Given the description of an element on the screen output the (x, y) to click on. 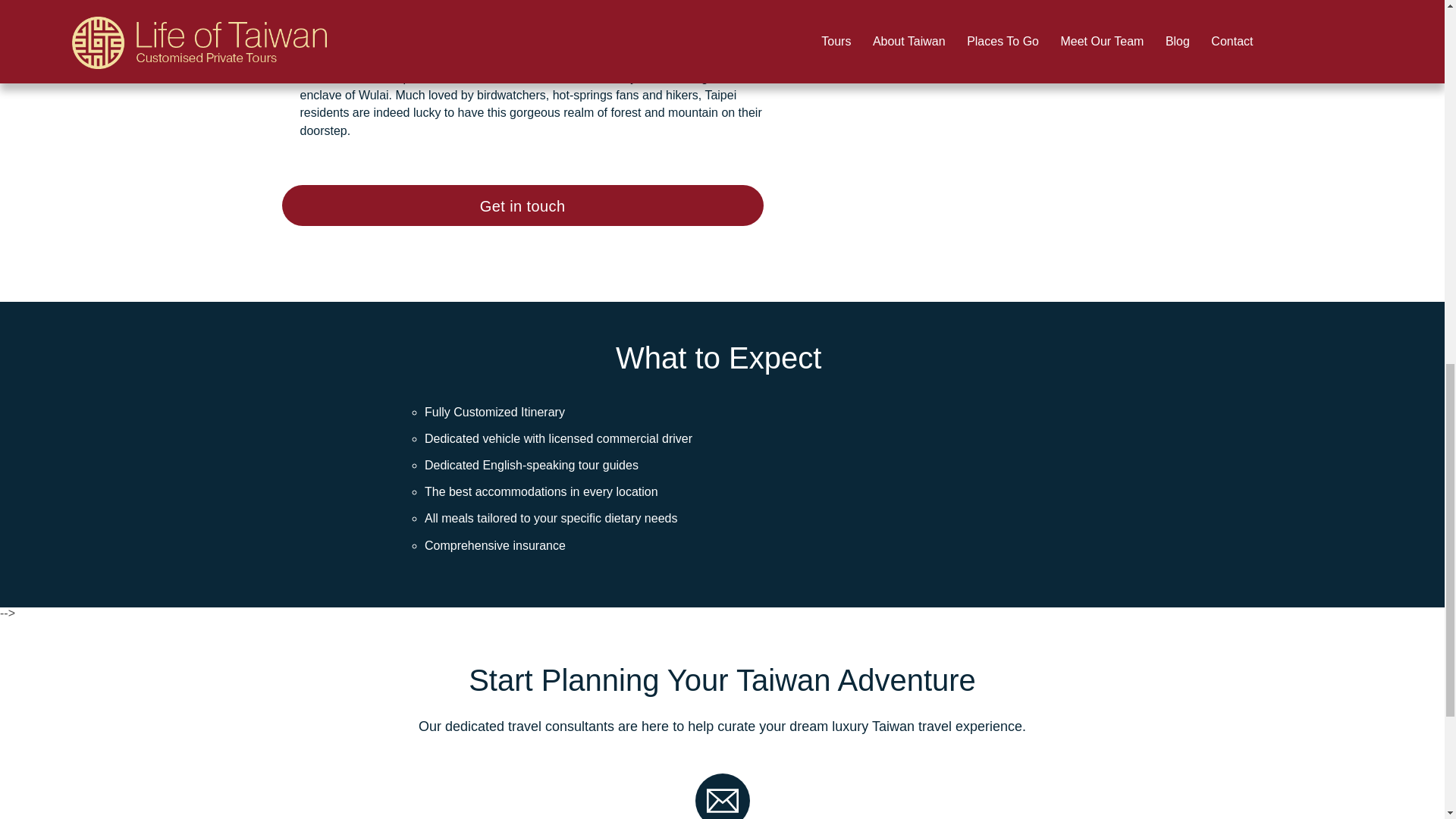
Get in touch (522, 205)
